Given the description of an element on the screen output the (x, y) to click on. 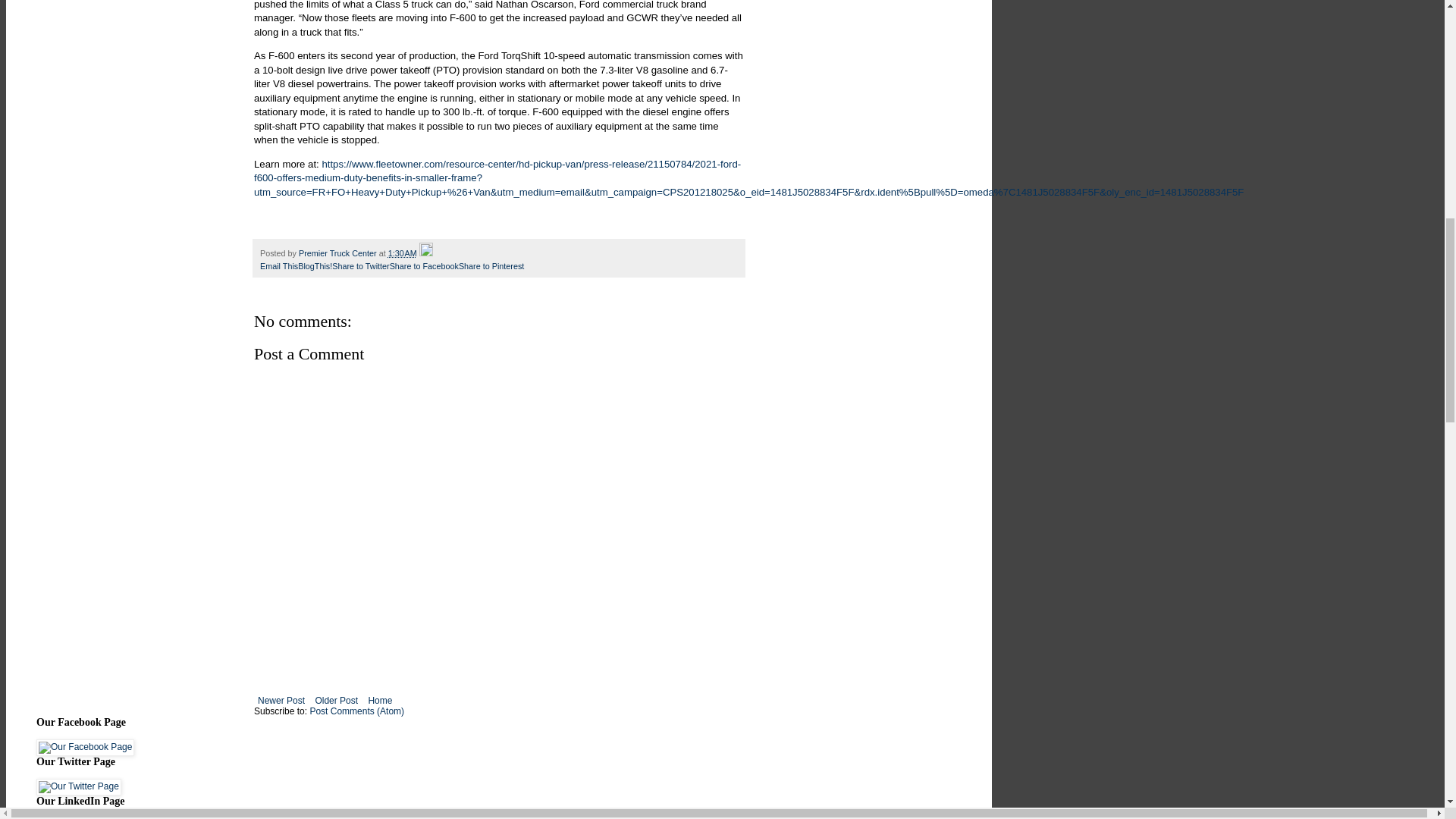
Newer Post (280, 700)
BlogThis! (314, 266)
Email This (279, 266)
Older Post (336, 700)
permanent link (402, 252)
Share to Facebook (424, 266)
Share to Pinterest (491, 266)
Share to Facebook (424, 266)
Older Post (336, 700)
Home (380, 700)
Edit Post (425, 252)
Share to Pinterest (491, 266)
BlogThis! (314, 266)
Share to Twitter (359, 266)
